Given the description of an element on the screen output the (x, y) to click on. 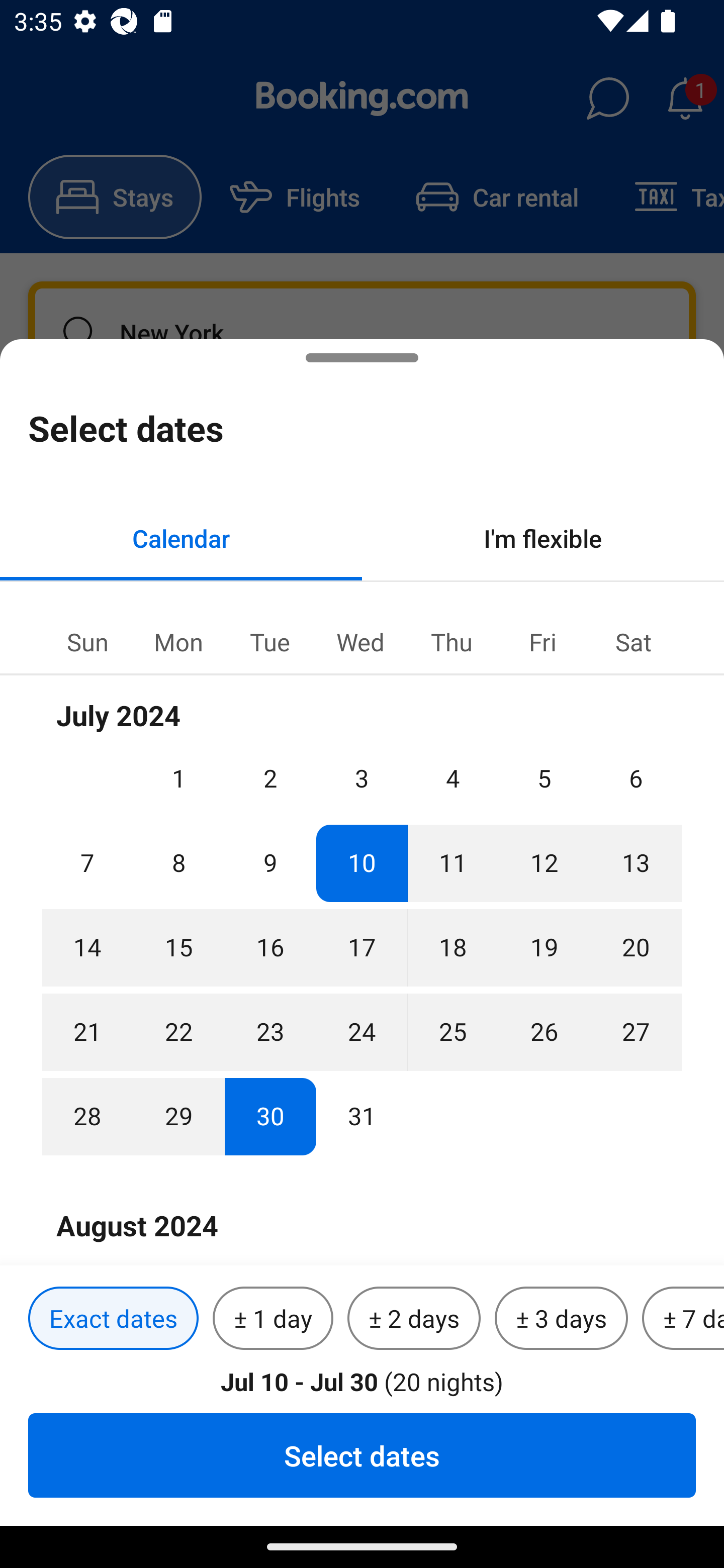
I'm flexible (543, 537)
Exact dates (113, 1318)
± 1 day (272, 1318)
± 2 days (413, 1318)
± 3 days (560, 1318)
± 7 days (683, 1318)
Select dates (361, 1454)
